Given the description of an element on the screen output the (x, y) to click on. 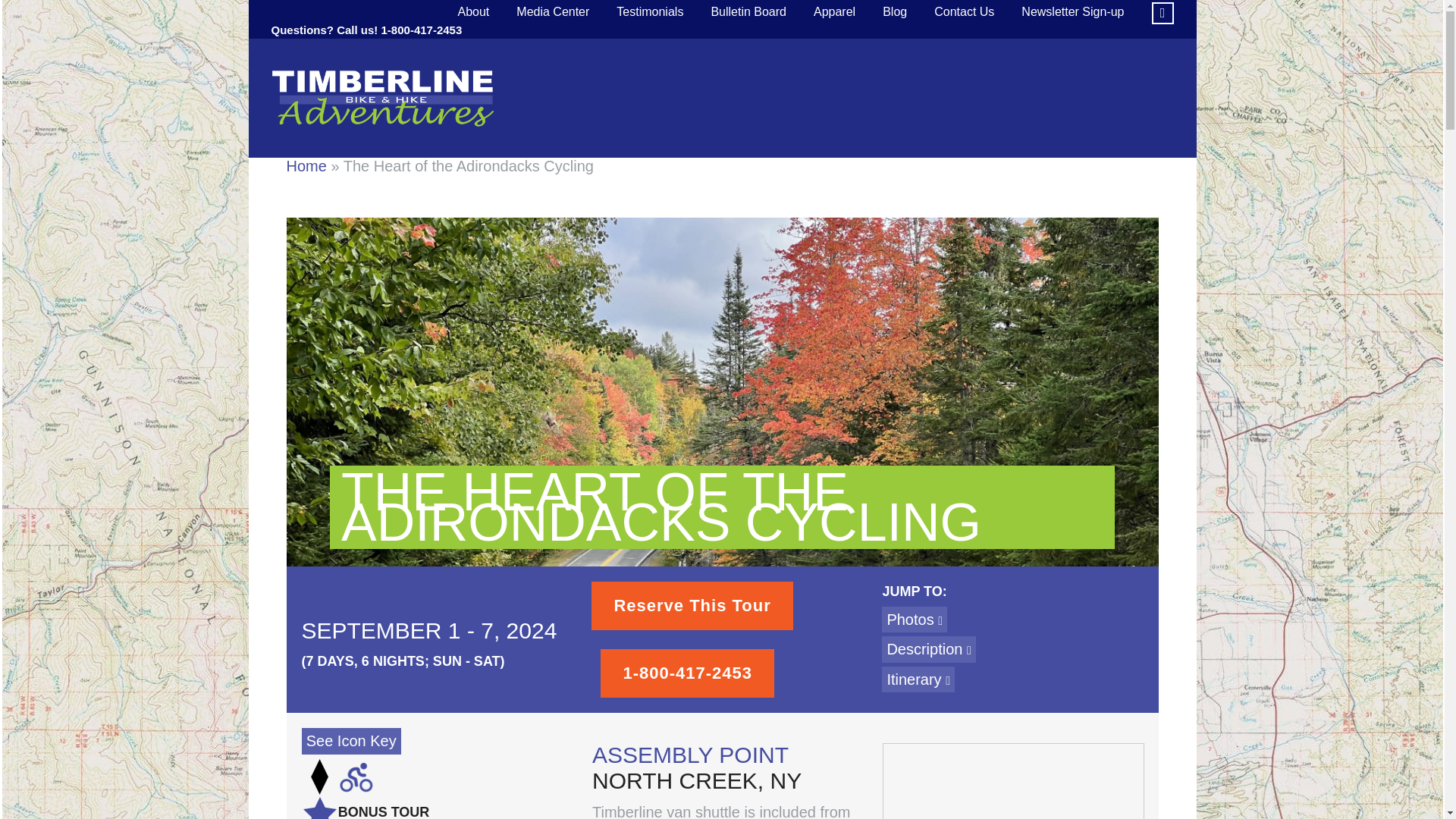
Bulletin Board (747, 12)
Contact Us (963, 12)
Testimonials (649, 12)
Apparel (834, 12)
Media Center (552, 12)
Questions? Call us! 1-800-417-2453 (366, 29)
Blog (894, 12)
Newsletter Sign-up (1072, 12)
About (472, 12)
